Given the description of an element on the screen output the (x, y) to click on. 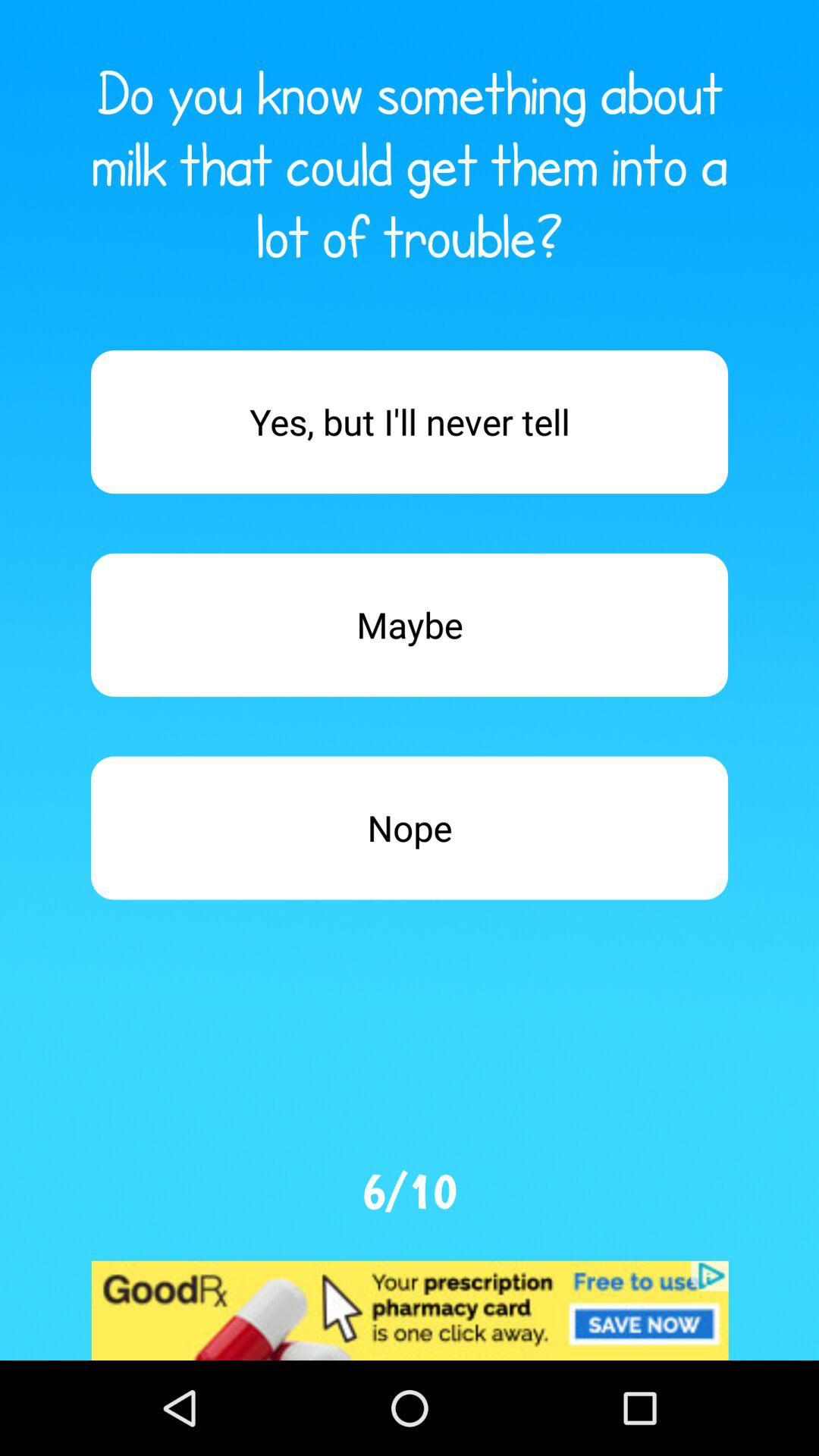
answer nope (409, 827)
